Given the description of an element on the screen output the (x, y) to click on. 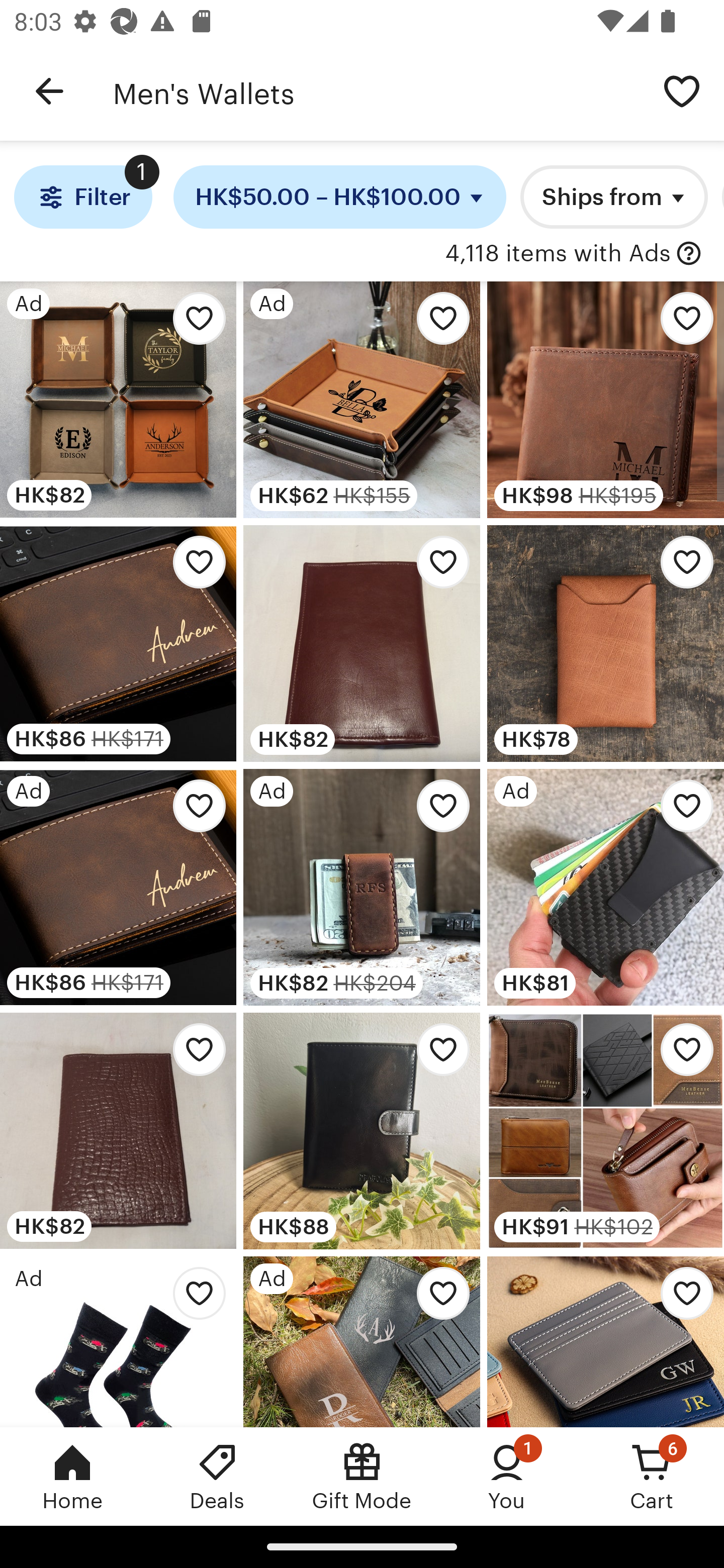
Navigate up (49, 91)
Save search (681, 90)
Men's Wallets (375, 91)
Filter (82, 197)
HK$50.00 – HK$100.00 (339, 197)
Ships from (614, 197)
4,118 items with Ads (558, 253)
with Ads (688, 253)
Add Men's wallet to favorites (438, 1054)
Add Wallet - men's wallets to favorites (681, 1054)
Deals (216, 1475)
Gift Mode (361, 1475)
You, 1 new notification You (506, 1475)
Cart, 6 new notifications Cart (651, 1475)
